Given the description of an element on the screen output the (x, y) to click on. 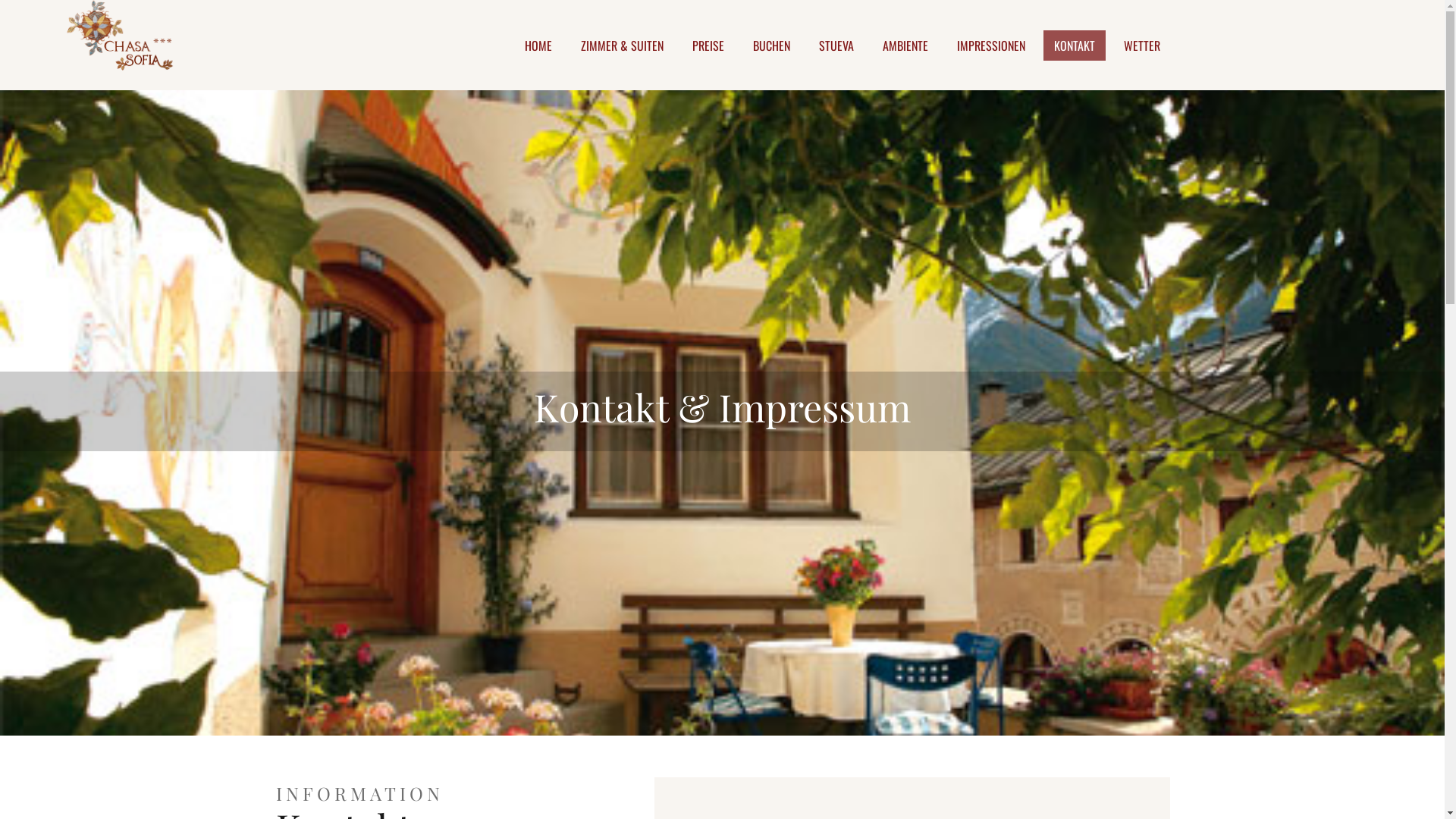
STUEVA Element type: text (836, 45)
BUCHEN Element type: text (771, 45)
ZIMMER & SUITEN Element type: text (622, 45)
KONTAKT Element type: text (1074, 45)
WETTER Element type: text (1141, 45)
IMPRESSIONEN Element type: text (990, 45)
AMBIENTE Element type: text (905, 45)
HOME Element type: text (538, 45)
PREISE Element type: text (707, 45)
